Given the description of an element on the screen output the (x, y) to click on. 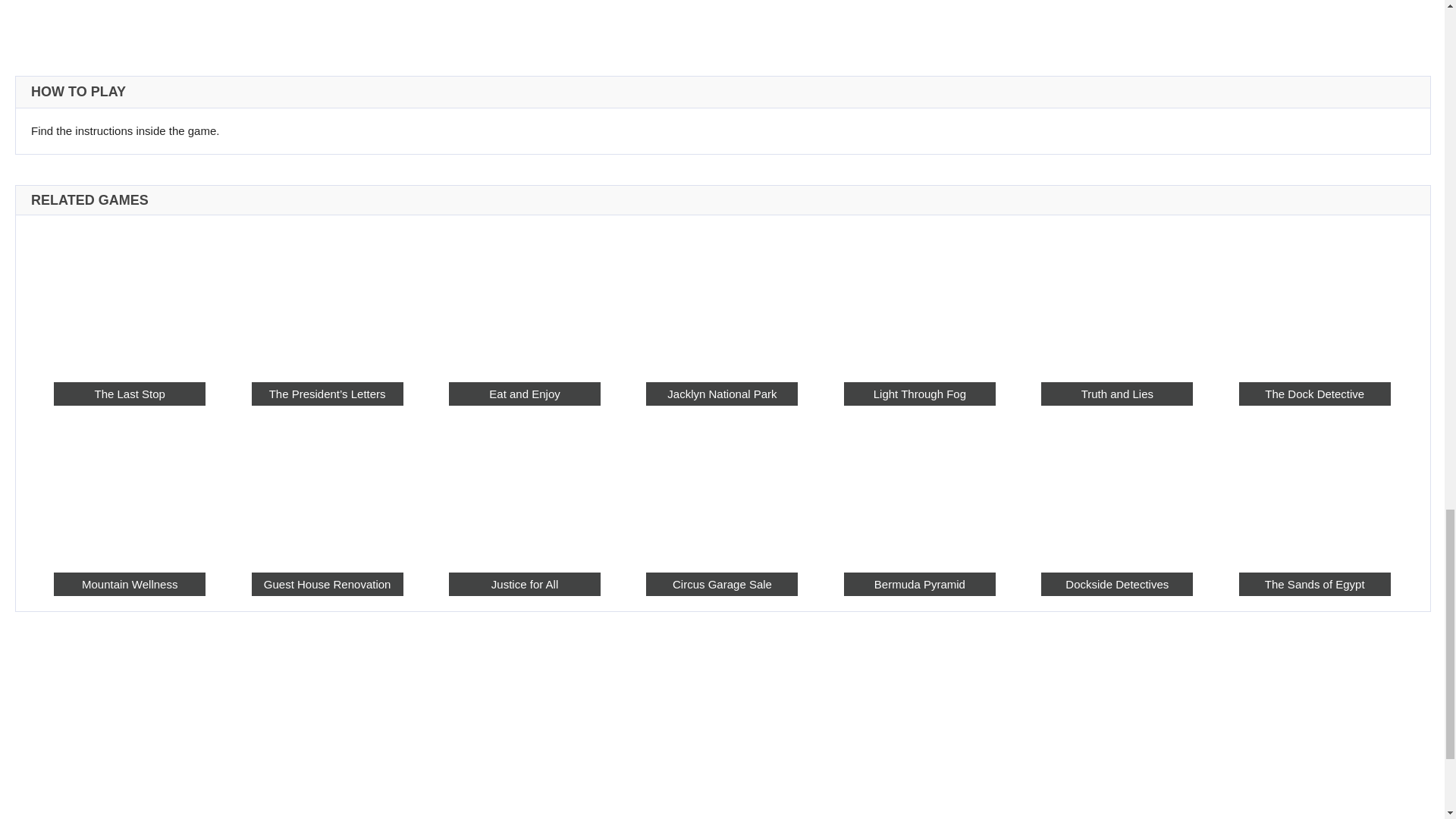
Light Through Fog (919, 297)
Advertisement (721, 20)
Jacklyn National Park (721, 393)
The Last Stop (129, 393)
Truth and Lies (1116, 297)
Jacklyn National Park (721, 297)
Eat and Enjoy (523, 297)
Light Through Fog (919, 393)
The Last Stop (129, 297)
Eat and Enjoy (523, 393)
